Given the description of an element on the screen output the (x, y) to click on. 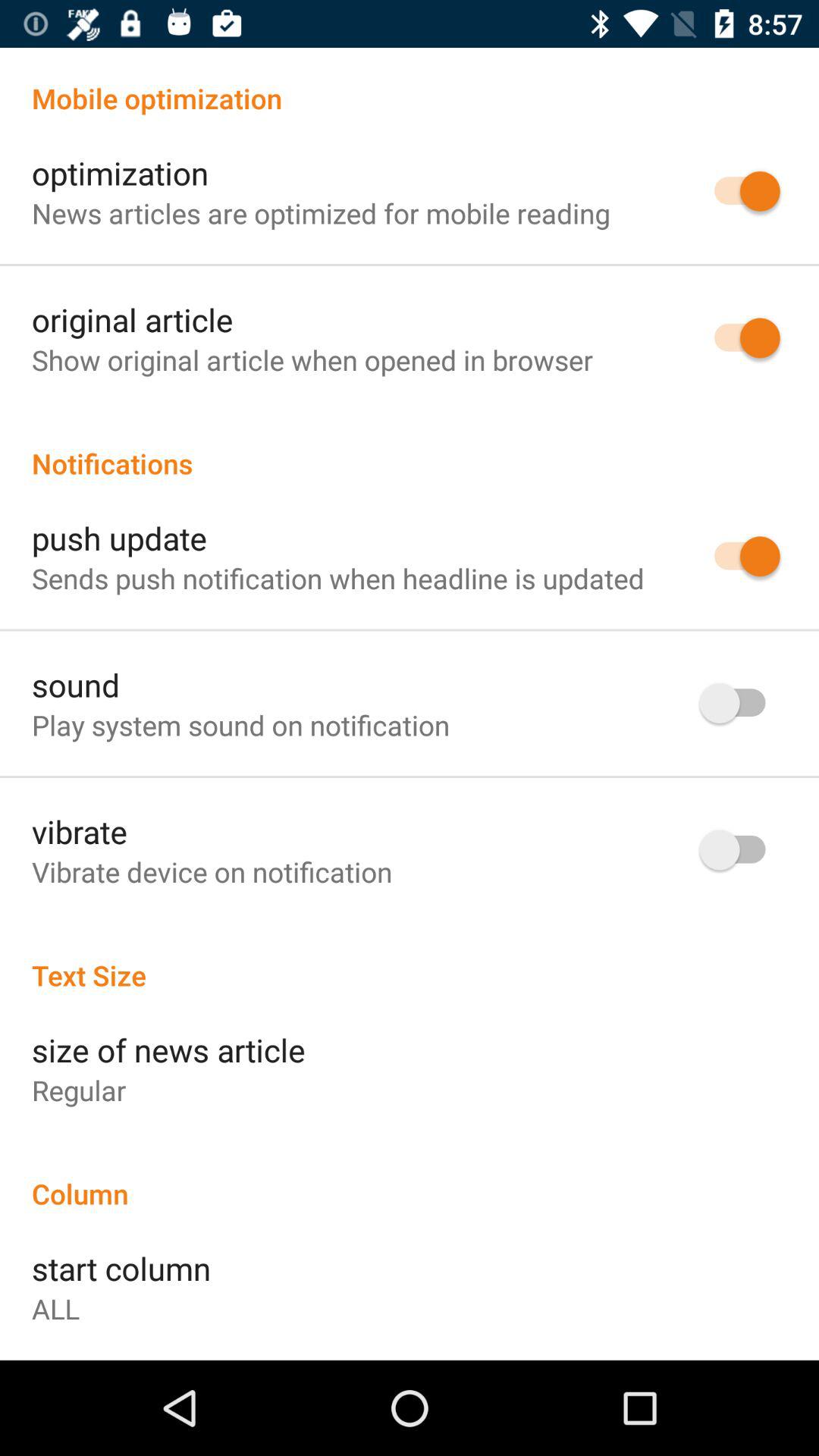
jump until the news articles are item (320, 213)
